Given the description of an element on the screen output the (x, y) to click on. 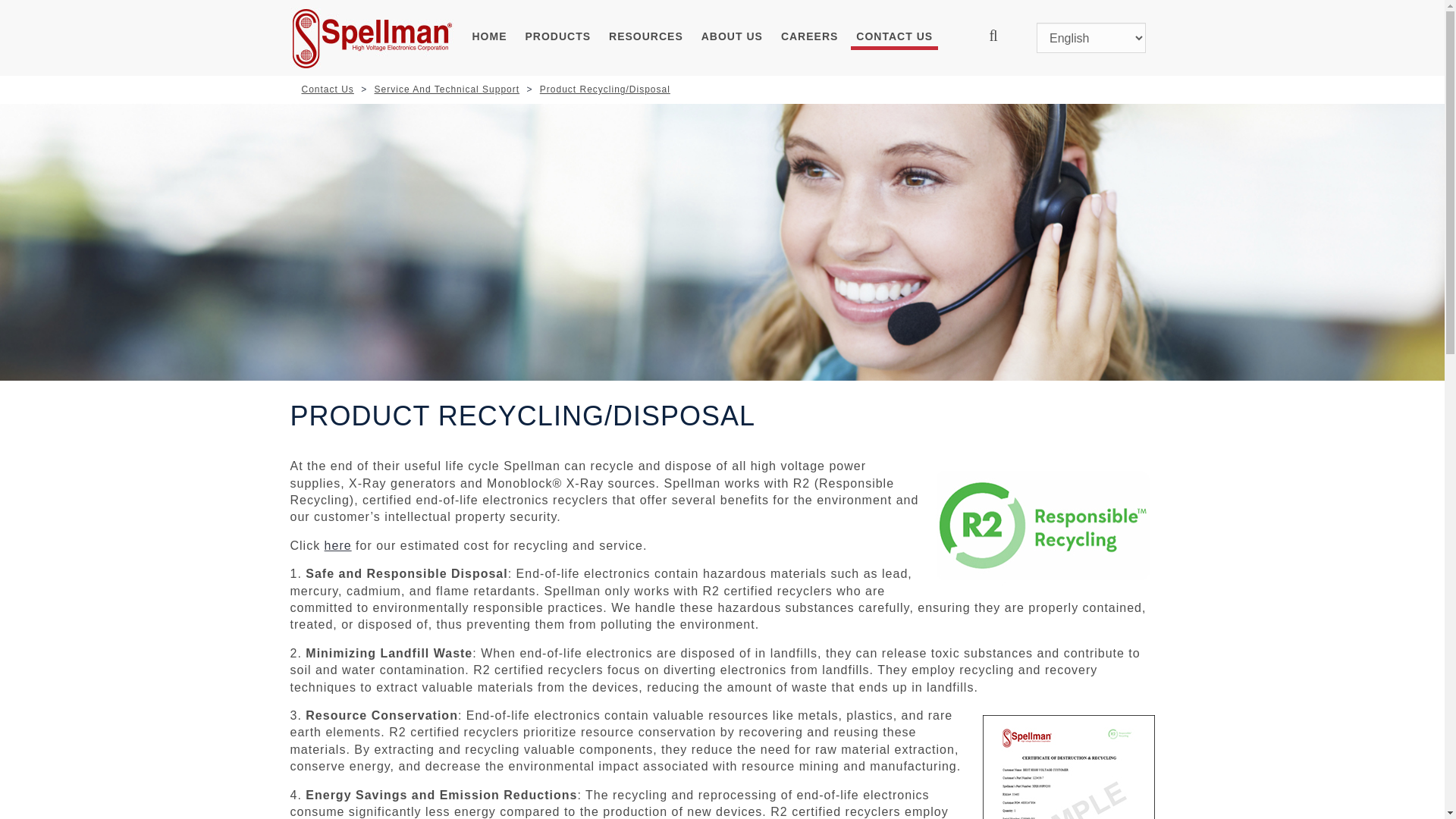
here (338, 545)
RESOURCES (646, 37)
CONTACT US (893, 37)
ABOUT US (731, 37)
HOME (489, 37)
Spellman High Voltage Electronics Corporation's Logo (370, 37)
Service And Technical Support (446, 89)
CAREERS (809, 37)
PRODUCTS (557, 37)
Contact Us (327, 89)
